Given the description of an element on the screen output the (x, y) to click on. 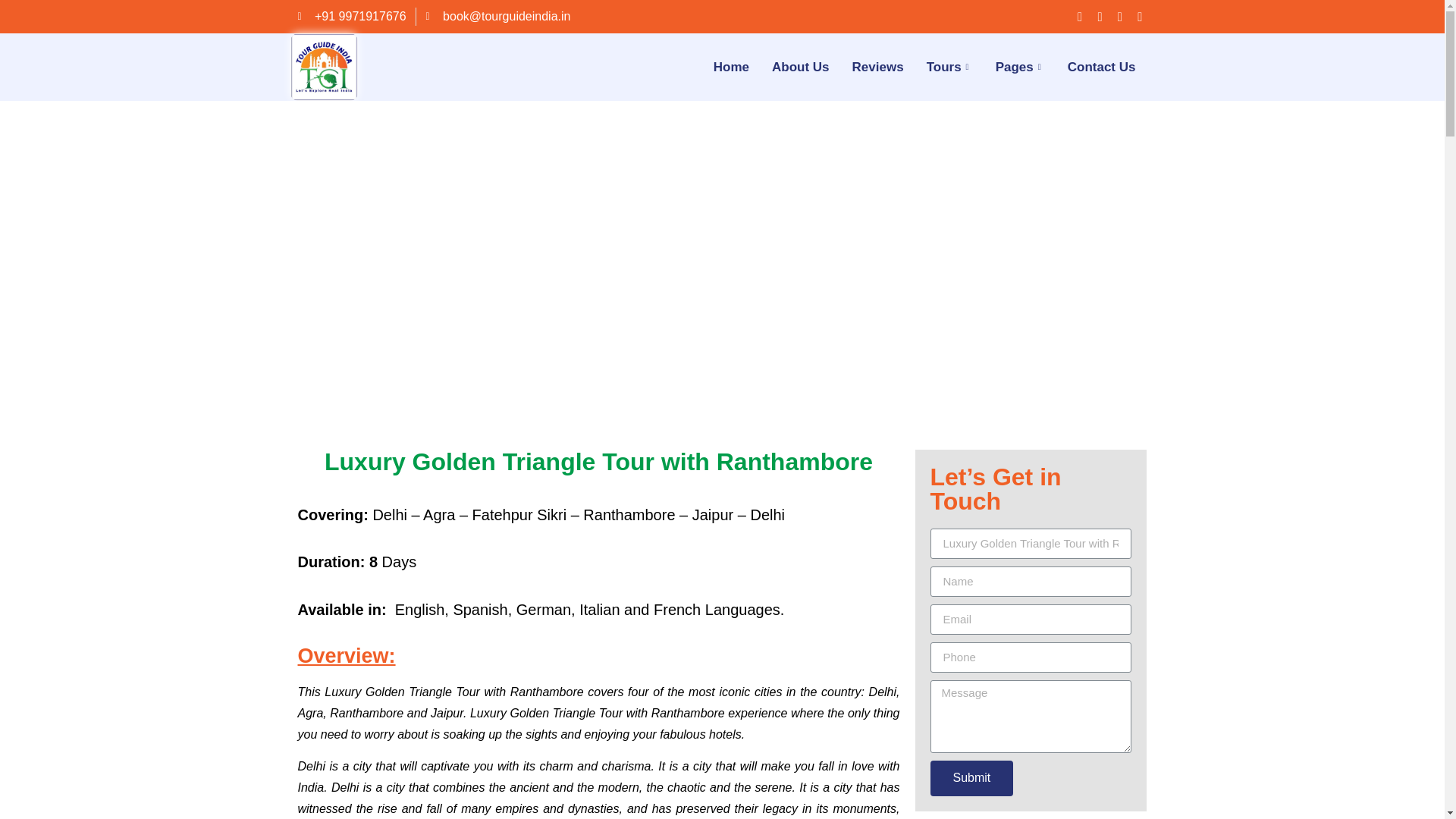
Pages (1020, 66)
About Us (800, 66)
Tours (949, 66)
Contact Us (1102, 66)
Home (730, 66)
Reviews (878, 66)
Luxury Golden Triangle Tour with Ranthambore (598, 461)
